Given the description of an element on the screen output the (x, y) to click on. 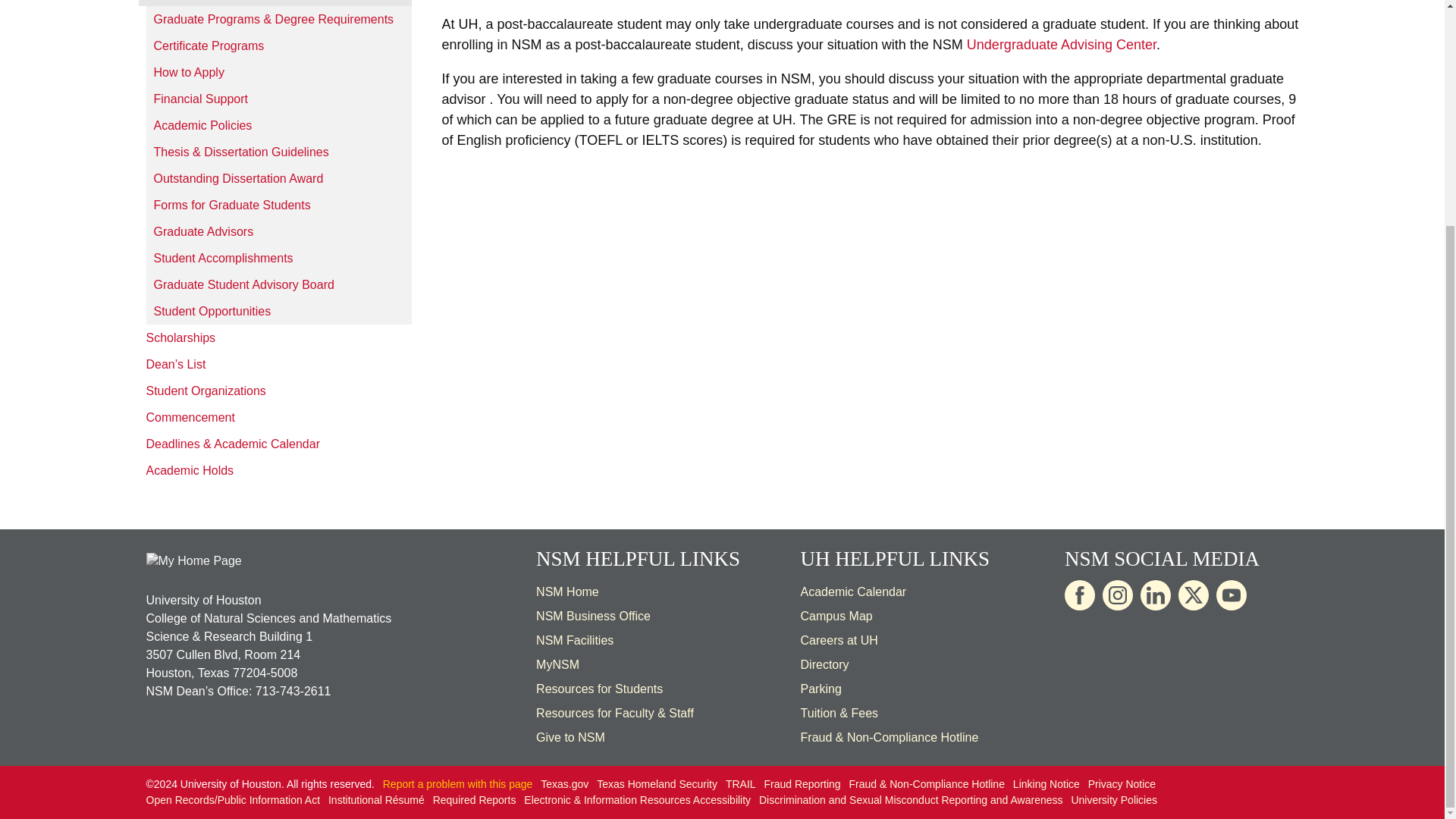
Outstanding Dissertation Award (277, 178)
Graduate (274, 2)
Forms for Graduate Students (277, 204)
Student Accomplishments (277, 257)
Graduate Student Advisory Board (277, 284)
How to Apply (277, 71)
Graduate Advisors (277, 231)
Commencement (274, 417)
Student Opportunities (277, 311)
Student Organizations (274, 390)
